Given the description of an element on the screen output the (x, y) to click on. 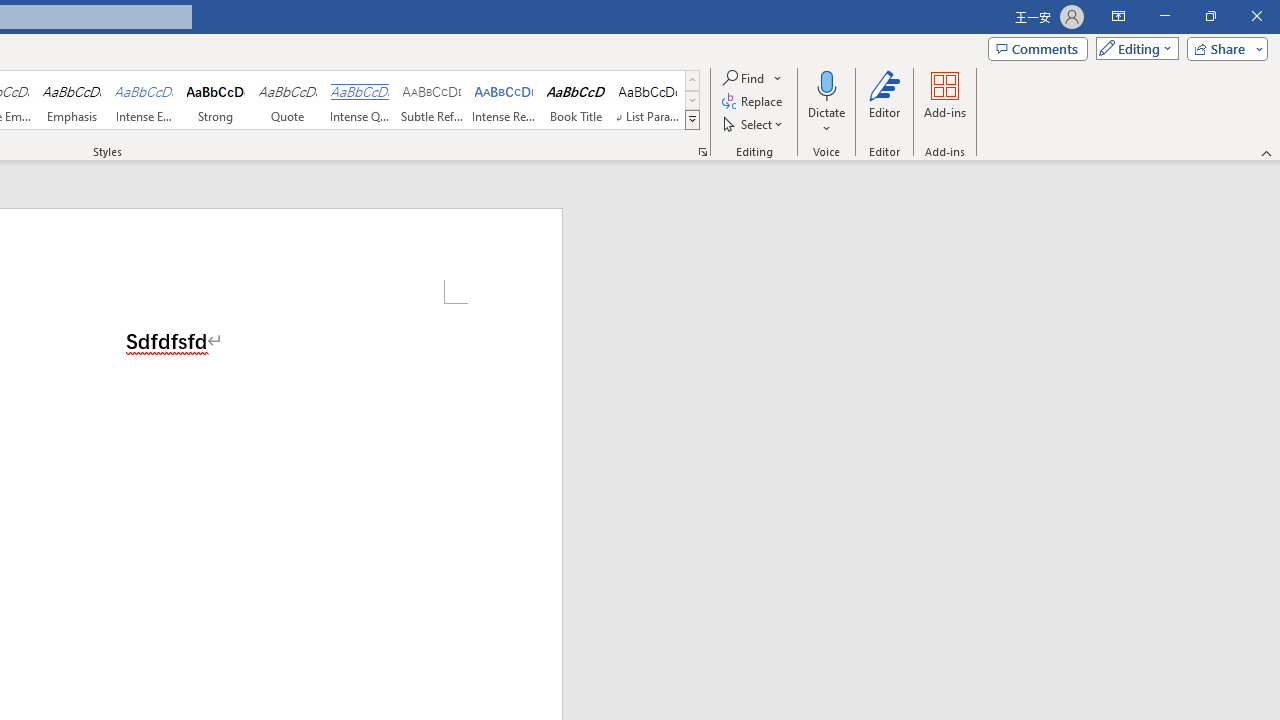
Intense Quote (359, 100)
Subtle Reference (431, 100)
